Given the description of an element on the screen output the (x, y) to click on. 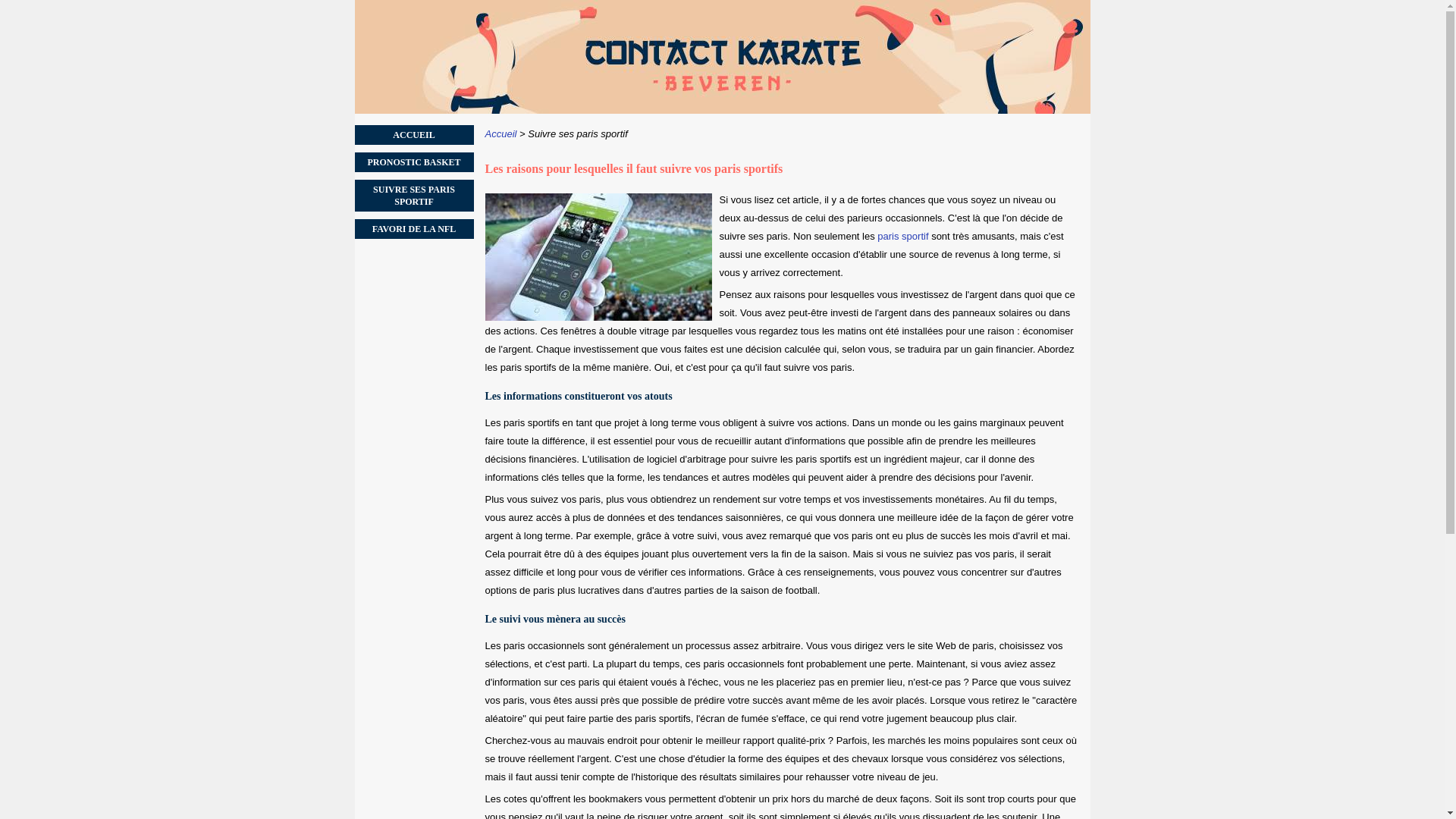
FAVORI DE LA NFL Element type: text (413, 228)
Accueil Element type: text (501, 133)
Suivre ses paris sportif Element type: text (577, 133)
PRONOSTIC BASKET Element type: text (413, 162)
SUIVRE SES PARIS SPORTIF Element type: text (413, 195)
ACCUEIL Element type: text (413, 134)
paris sportif Element type: text (902, 235)
